Given the description of an element on the screen output the (x, y) to click on. 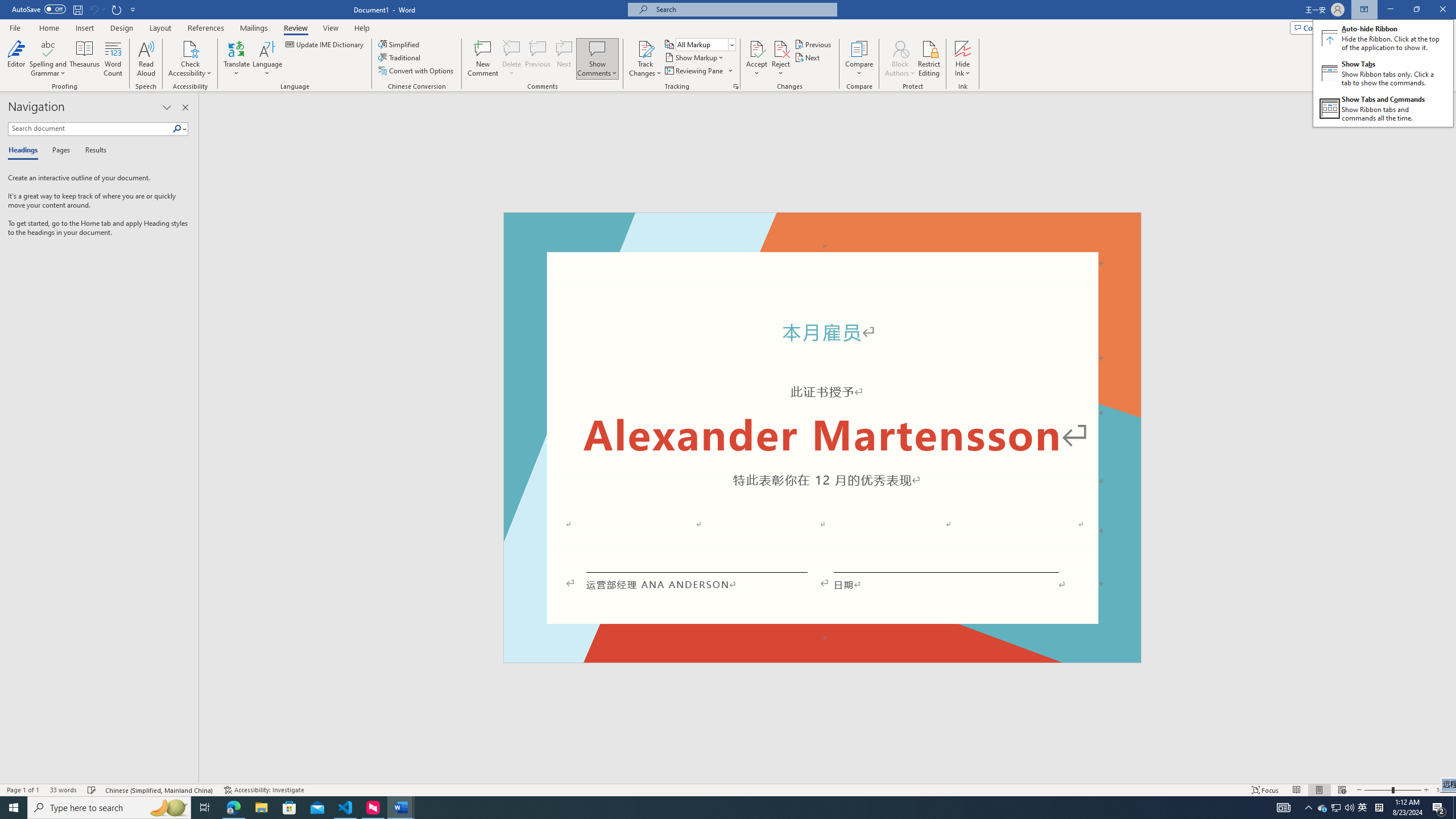
Header -Section 1- (822, 225)
Running applications (700, 807)
Decorative (822, 437)
Reviewing Pane (694, 69)
Change Tracking Options... (735, 85)
Repeat Doc Close (117, 9)
Open (731, 44)
Check Accessibility (189, 58)
Task View (204, 807)
Spelling and Grammar (48, 58)
